Given the description of an element on the screen output the (x, y) to click on. 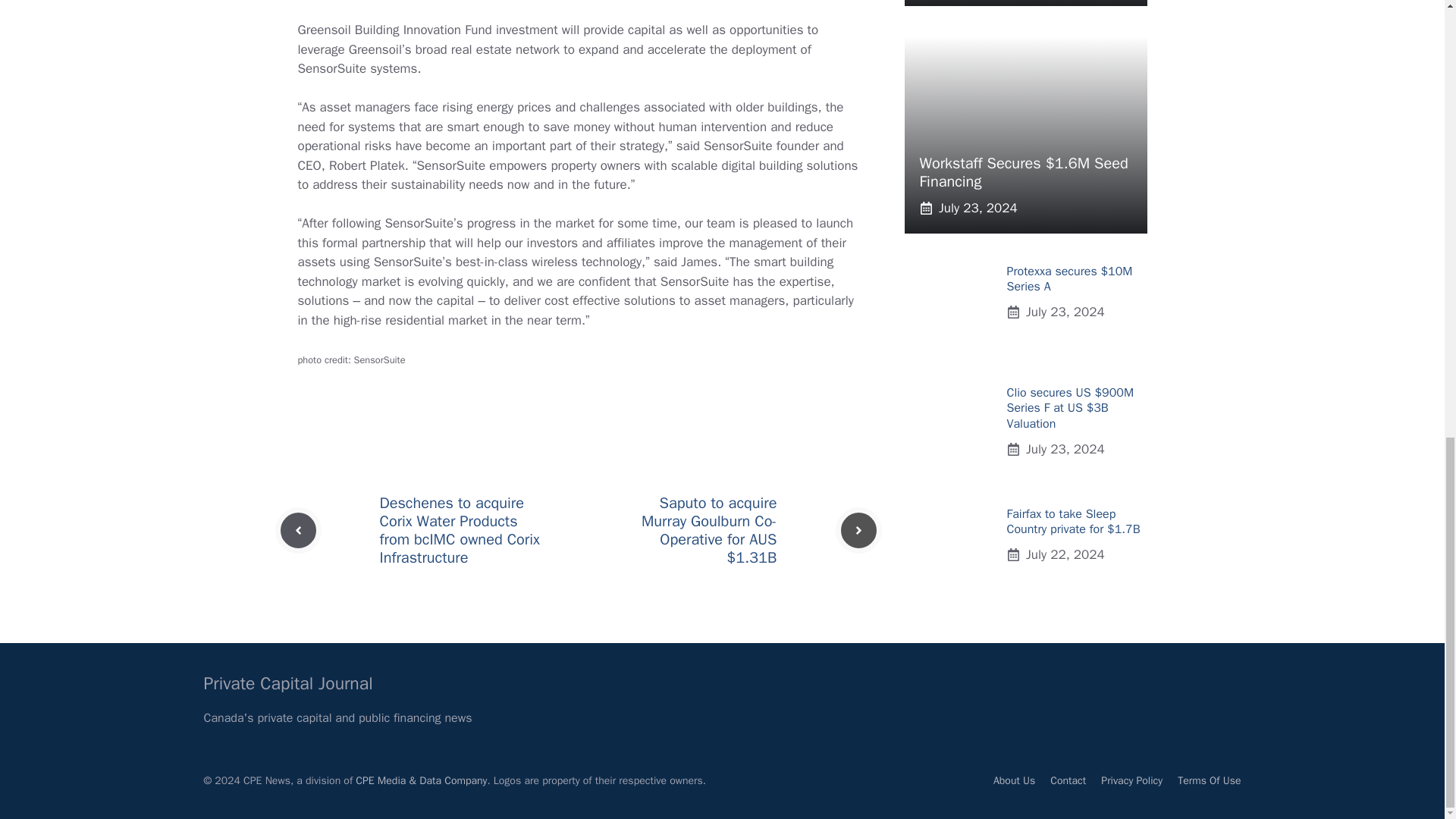
Scroll back to top (1406, 595)
